Given the description of an element on the screen output the (x, y) to click on. 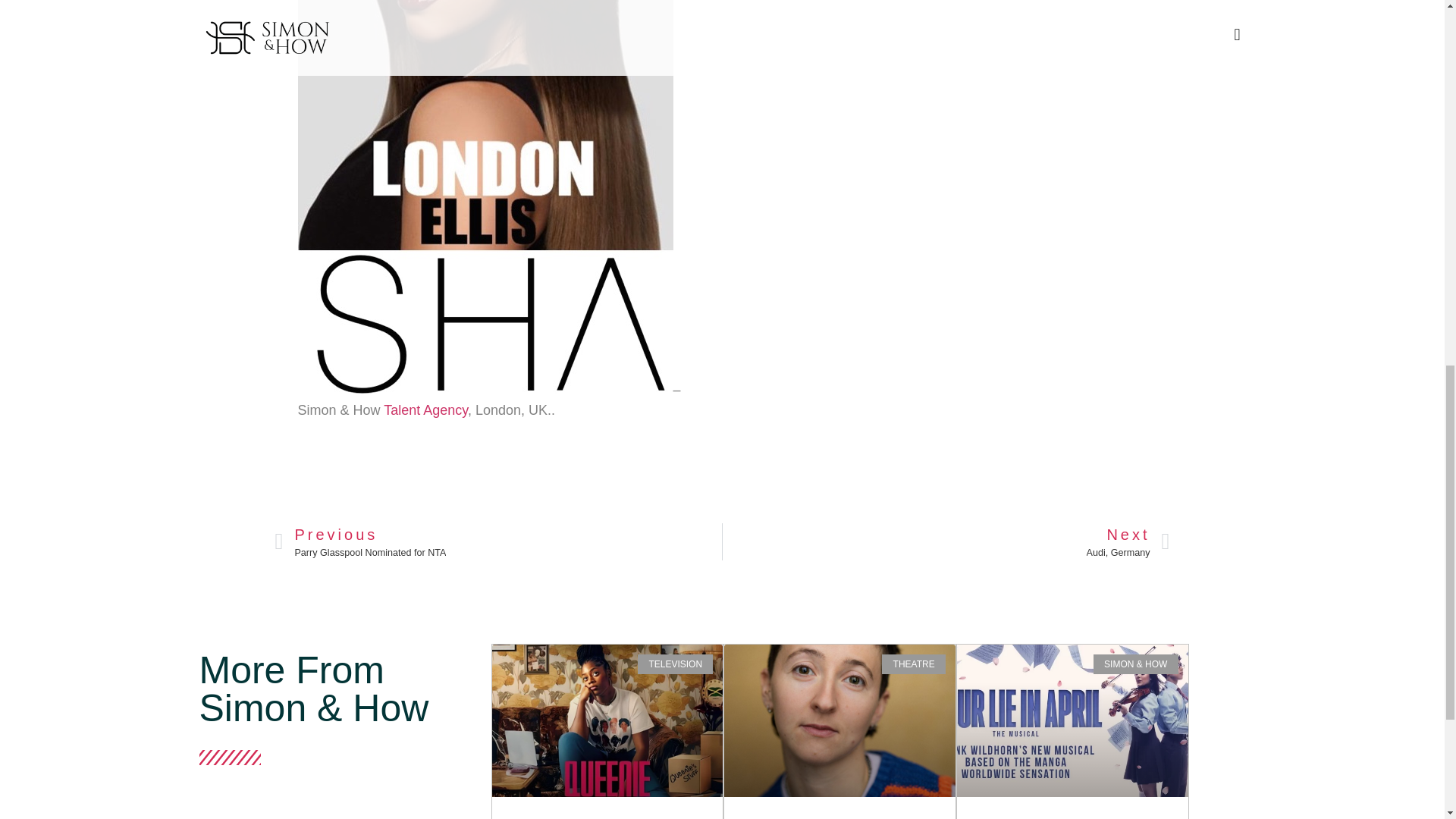
Talent Agency (498, 541)
Talent Agency (946, 541)
